Given the description of an element on the screen output the (x, y) to click on. 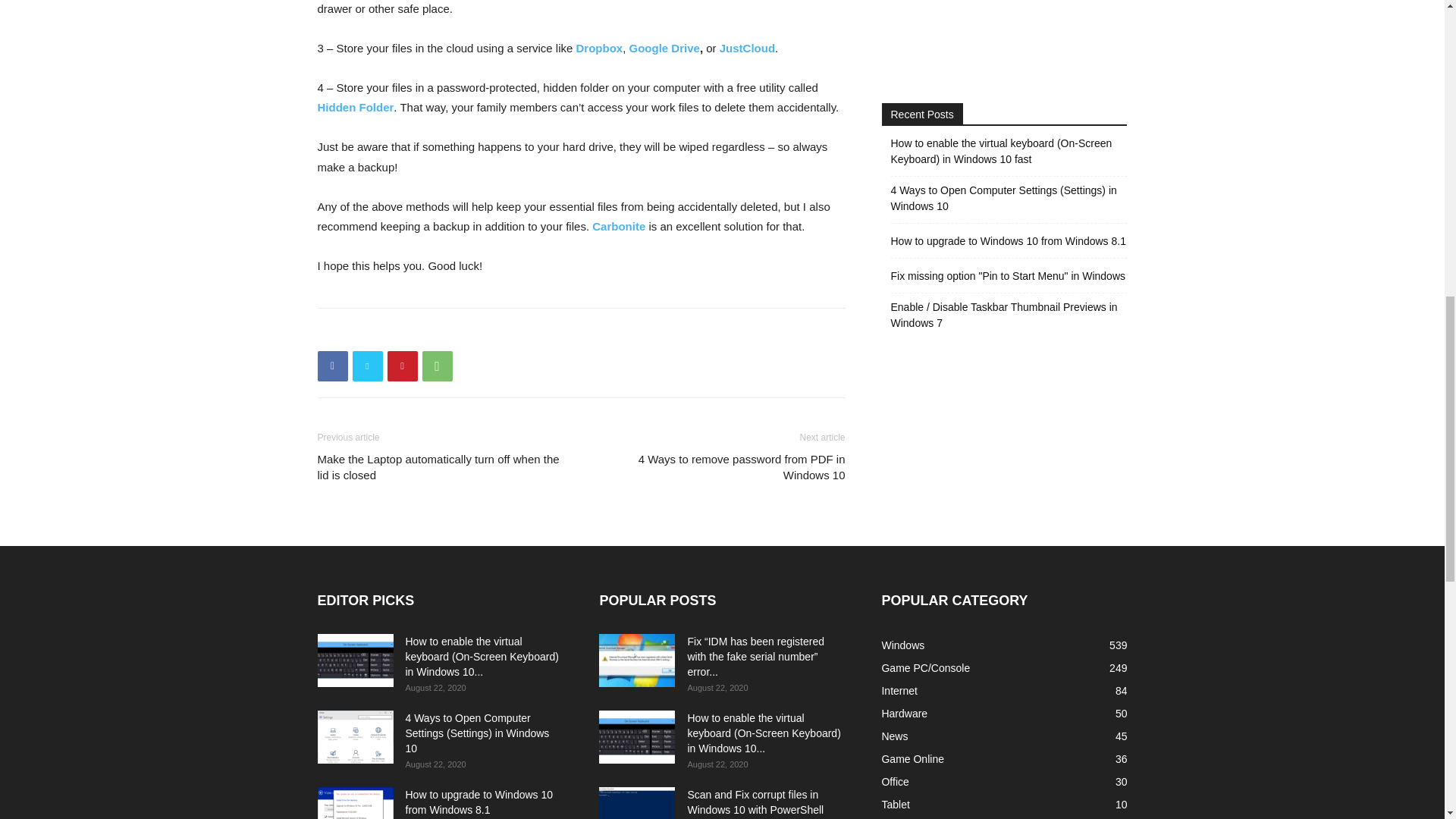
Hidden Folder (355, 106)
4 Ways to remove password from PDF in Windows 10 (721, 467)
Dropbox (599, 47)
WhatsApp (436, 366)
Facebook (332, 366)
Carbonite (618, 226)
Twitter (366, 366)
Pinterest (401, 366)
JustCloud (746, 47)
Google Drive (664, 47)
